Given the description of an element on the screen output the (x, y) to click on. 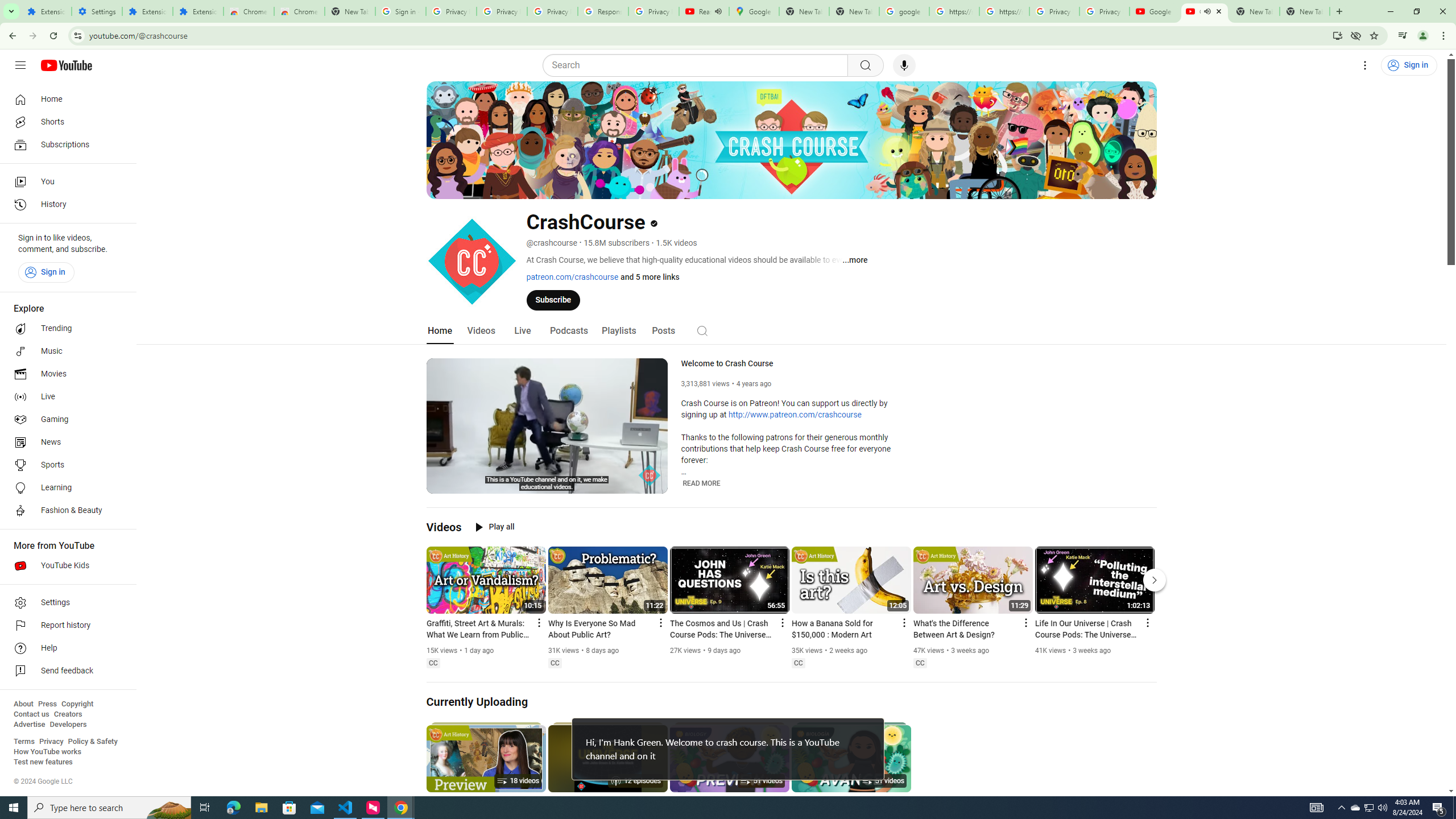
Install YouTube (1336, 35)
Podcasts (568, 330)
News (64, 441)
Extensions (46, 11)
Subscribe (552, 299)
and 5 more links (649, 276)
Channel watermark (649, 475)
Playlists (618, 330)
